Given the description of an element on the screen output the (x, y) to click on. 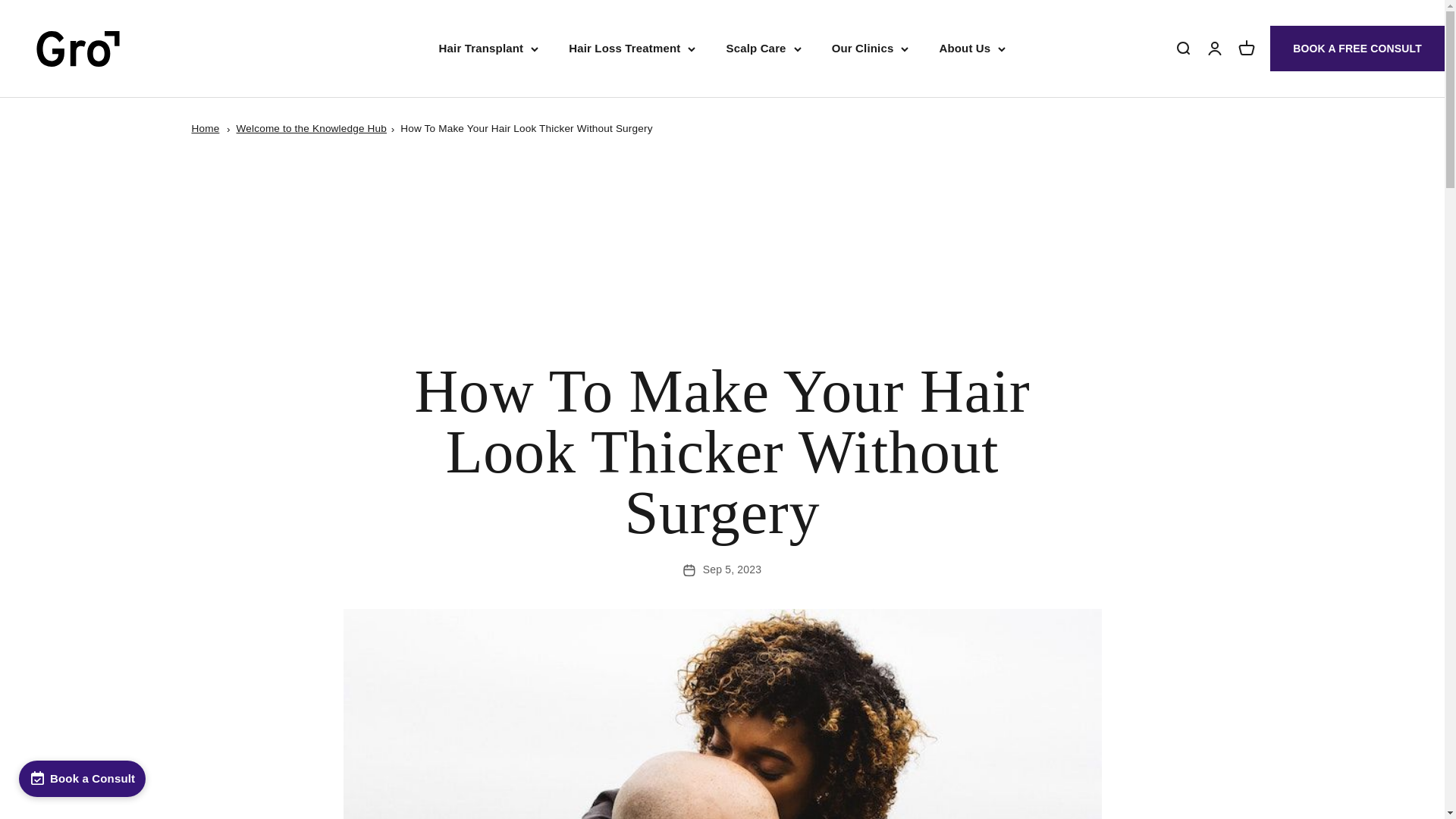
Open search (1182, 48)
Home (204, 128)
Gro Clinics (77, 48)
Open account page (1247, 48)
